Given the description of an element on the screen output the (x, y) to click on. 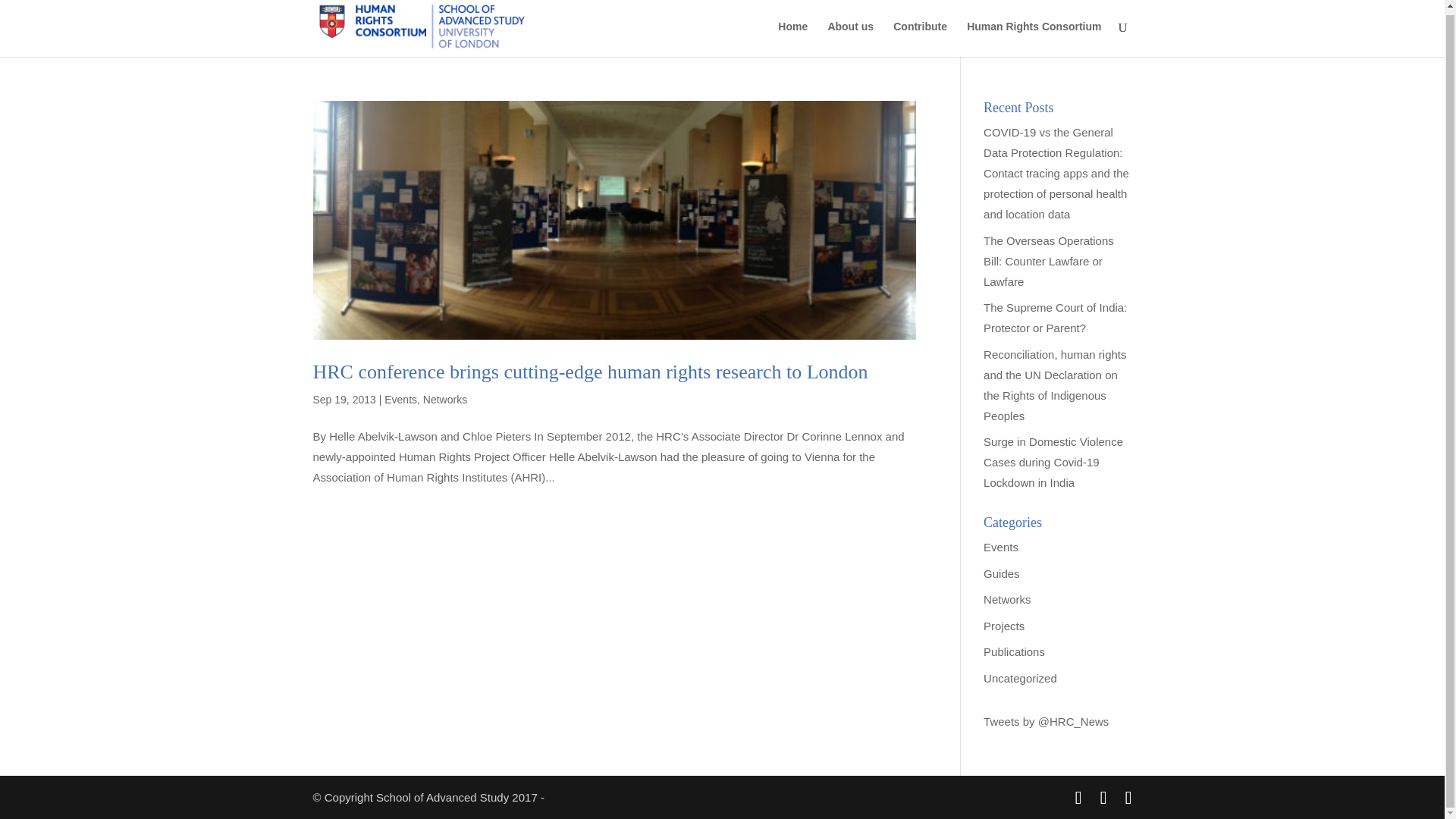
Events (400, 399)
Projects (1004, 625)
Networks (445, 399)
Networks (1007, 599)
Contribute (920, 38)
The Supreme Court of India: Protector or Parent? (1055, 317)
Events (1000, 546)
About us (850, 38)
Publications (1014, 651)
Guides (1002, 572)
The Overseas Operations Bill: Counter Lawfare or Lawfare (1048, 261)
Uncategorized (1020, 676)
